Given the description of an element on the screen output the (x, y) to click on. 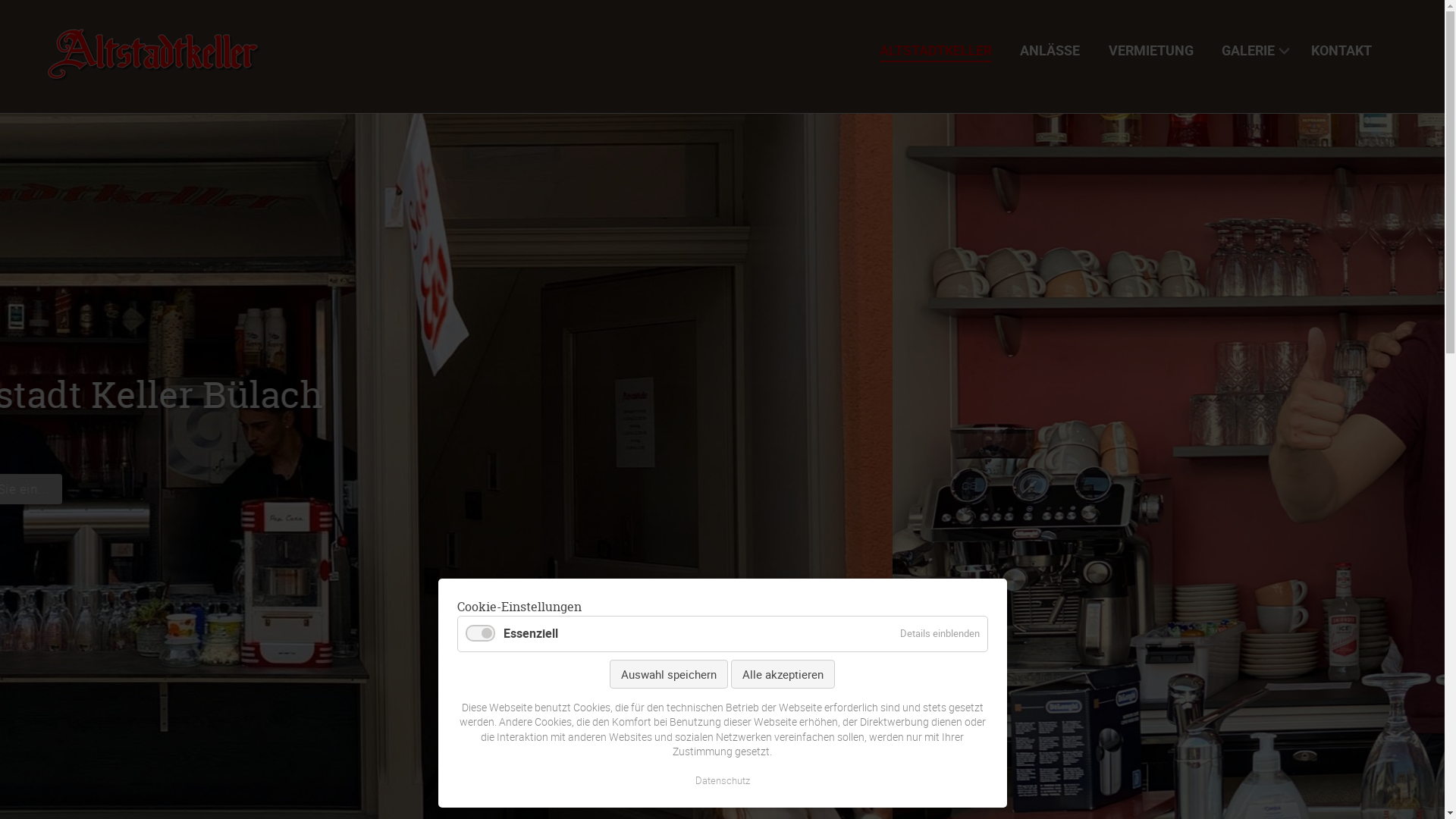
ALTSTADTKELLER Element type: text (940, 50)
KONTAKT Element type: text (1346, 50)
VERMIETUNG Element type: text (1156, 50)
Treten Sie ein... Element type: text (502, 488)
Datenschutz Element type: text (721, 780)
GALERIE Element type: text (1257, 50)
Alle akzeptieren Element type: text (782, 673)
Auswahl speichern Element type: text (668, 673)
Details einblenden Element type: text (938, 633)
